Given the description of an element on the screen output the (x, y) to click on. 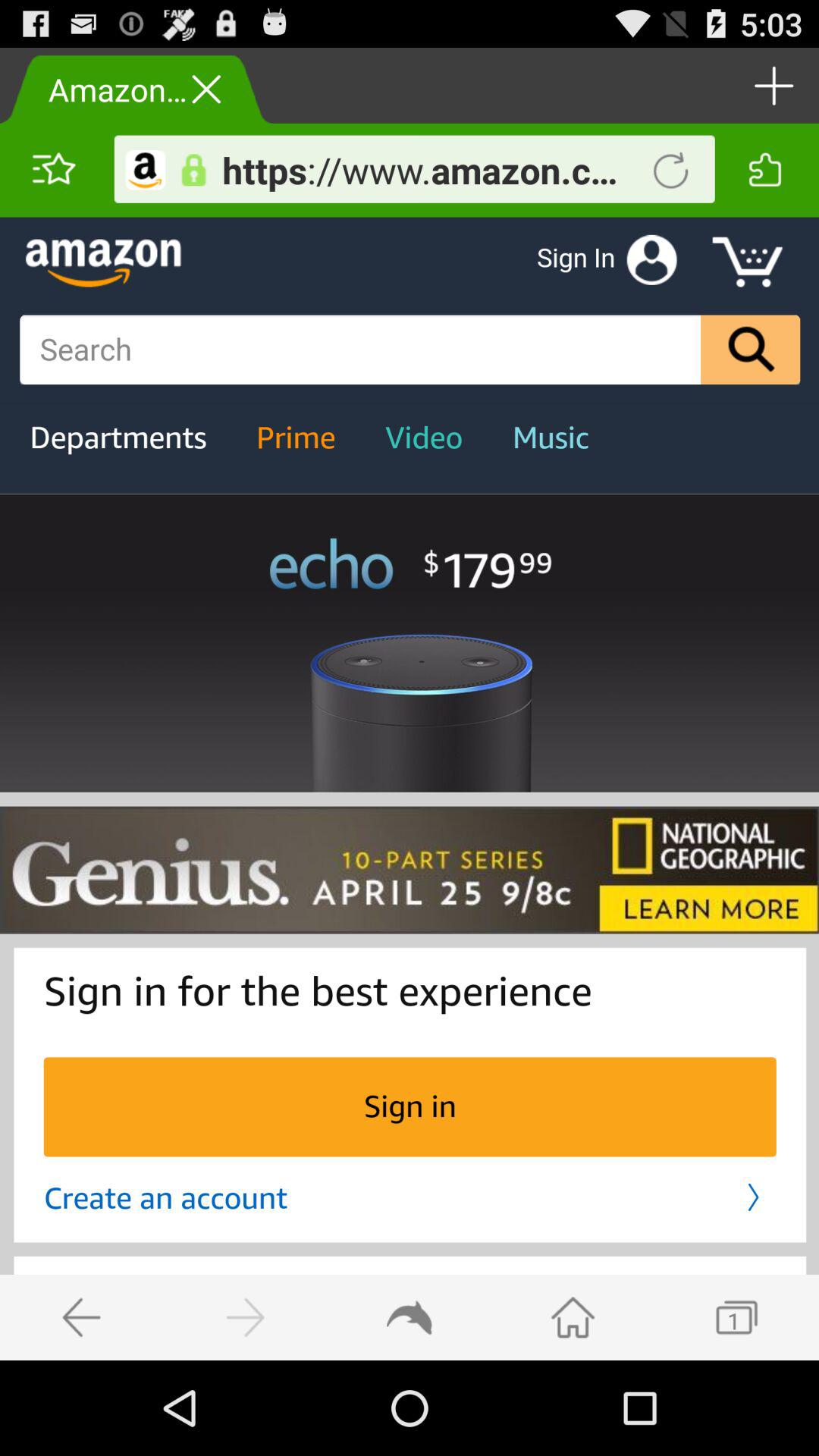
display authentication (193, 169)
